Given the description of an element on the screen output the (x, y) to click on. 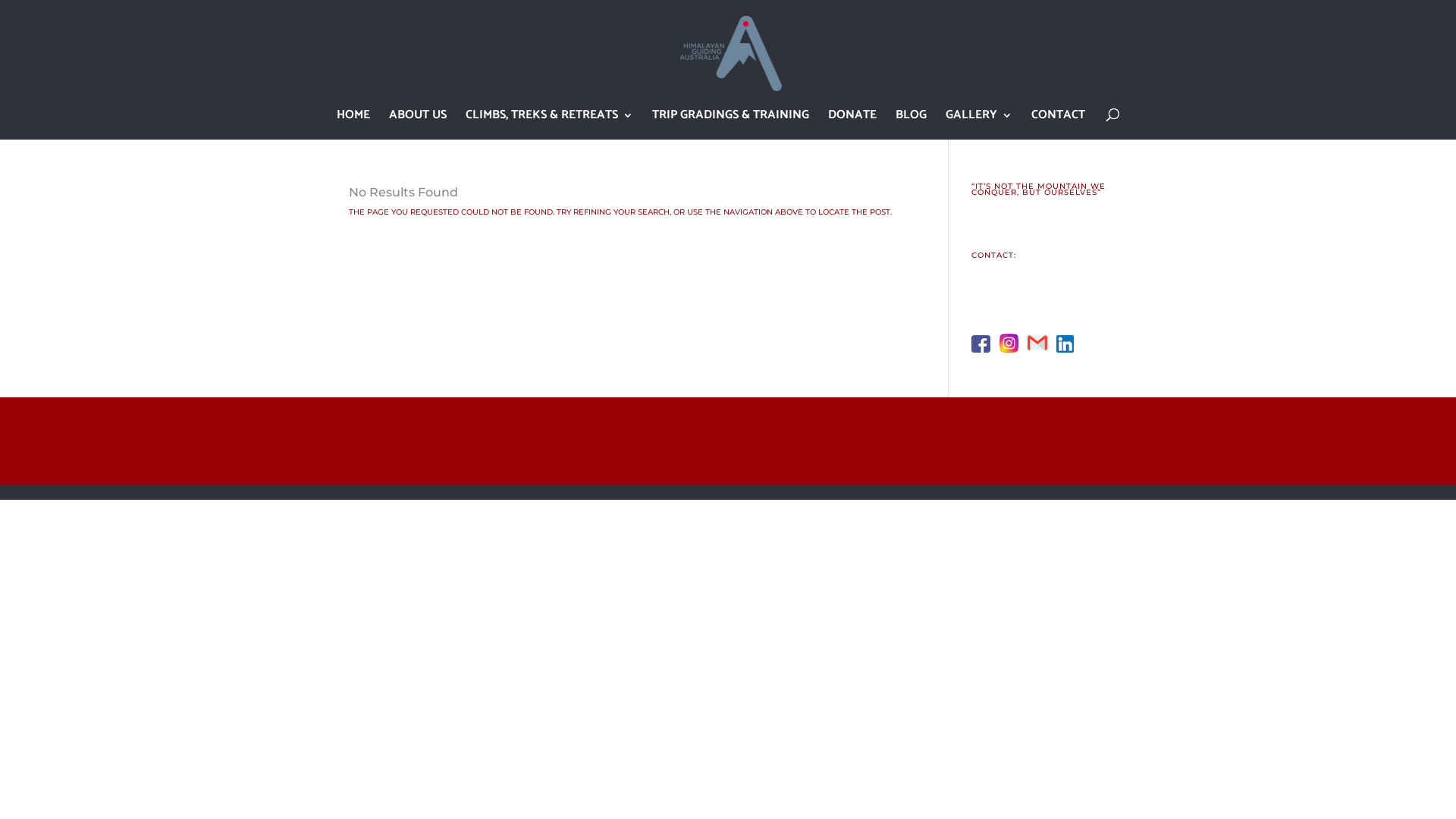
CLIMBS, TREKS & RETREATS Element type: text (549, 124)
GALLERY Element type: text (978, 124)
HOME Element type: text (353, 124)
CONTACT Element type: text (1058, 124)
BLOG Element type: text (910, 124)
    Element type: text (1041, 349)
ABOUT US Element type: text (417, 124)
    Element type: text (984, 349)
DONATE Element type: text (852, 124)
TRIP GRADINGS & TRAINING Element type: text (730, 124)
